Given the description of an element on the screen output the (x, y) to click on. 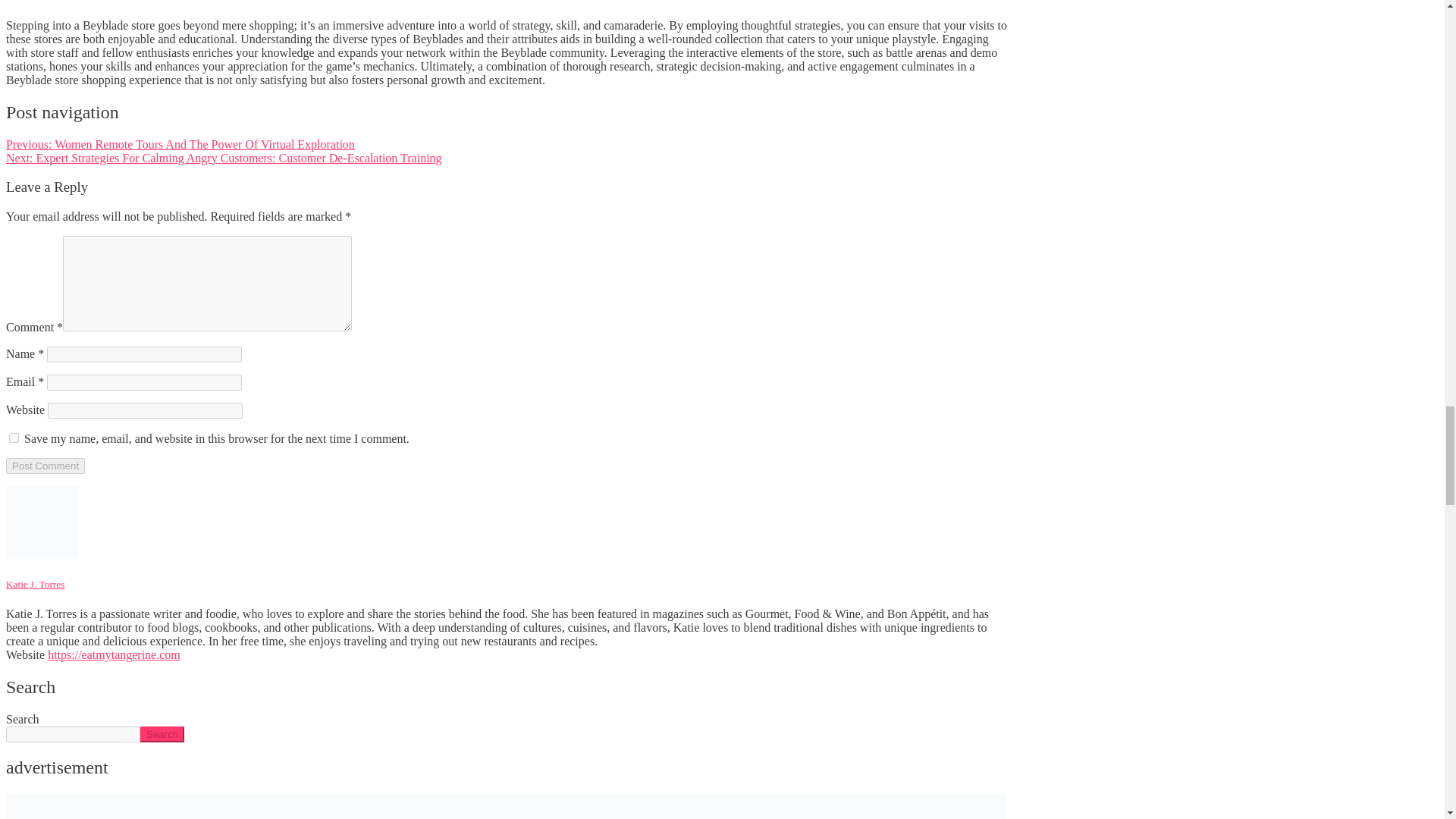
Post Comment (44, 465)
Posts by Katie J. Torres (34, 583)
yes (13, 438)
advertisement (506, 806)
Search (161, 734)
Post Comment (44, 465)
Katie J. Torres (34, 583)
